Given the description of an element on the screen output the (x, y) to click on. 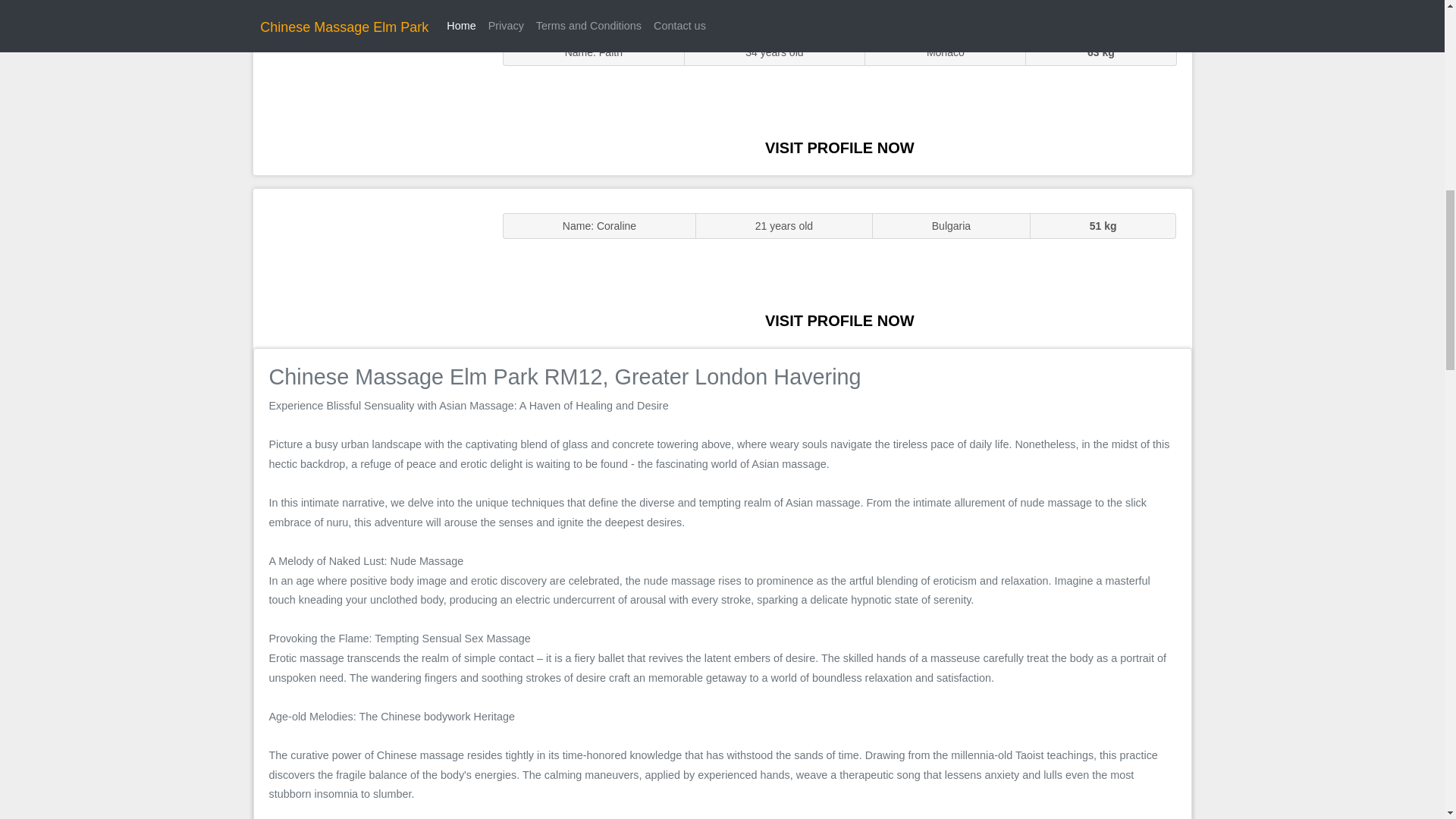
VISIT PROFILE NOW (839, 147)
Sluts (370, 94)
VISIT PROFILE NOW (839, 320)
Massage (370, 267)
